Given the description of an element on the screen output the (x, y) to click on. 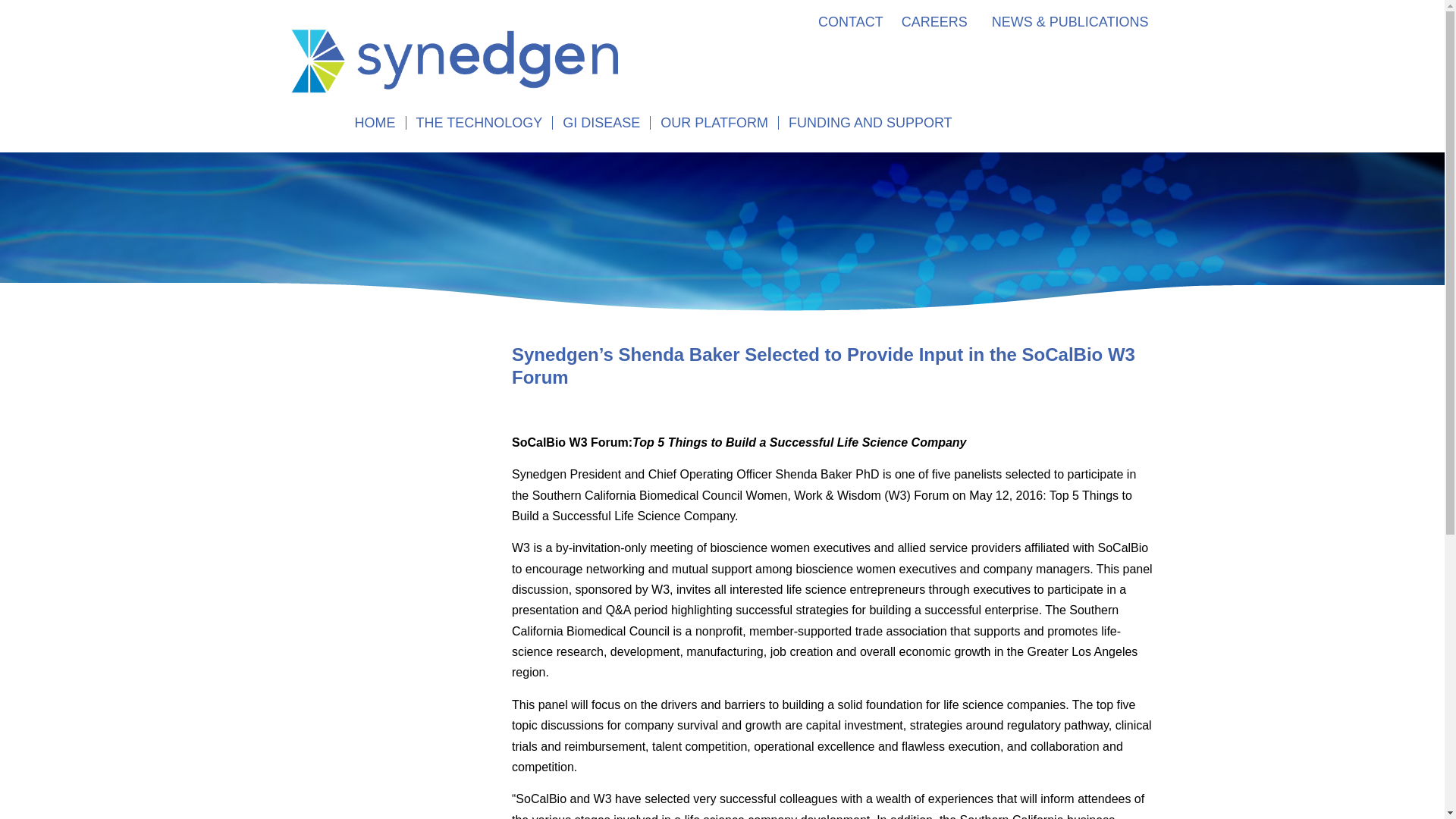
OUR PLATFORM (713, 122)
Our Platform (713, 122)
CAREERS (934, 21)
HOME (373, 122)
Funding and Support (870, 122)
THE TECHNOLOGY (479, 122)
The Technology (479, 122)
GI DISEASE (601, 122)
Home (373, 122)
GI Disease (601, 122)
